Given the description of an element on the screen output the (x, y) to click on. 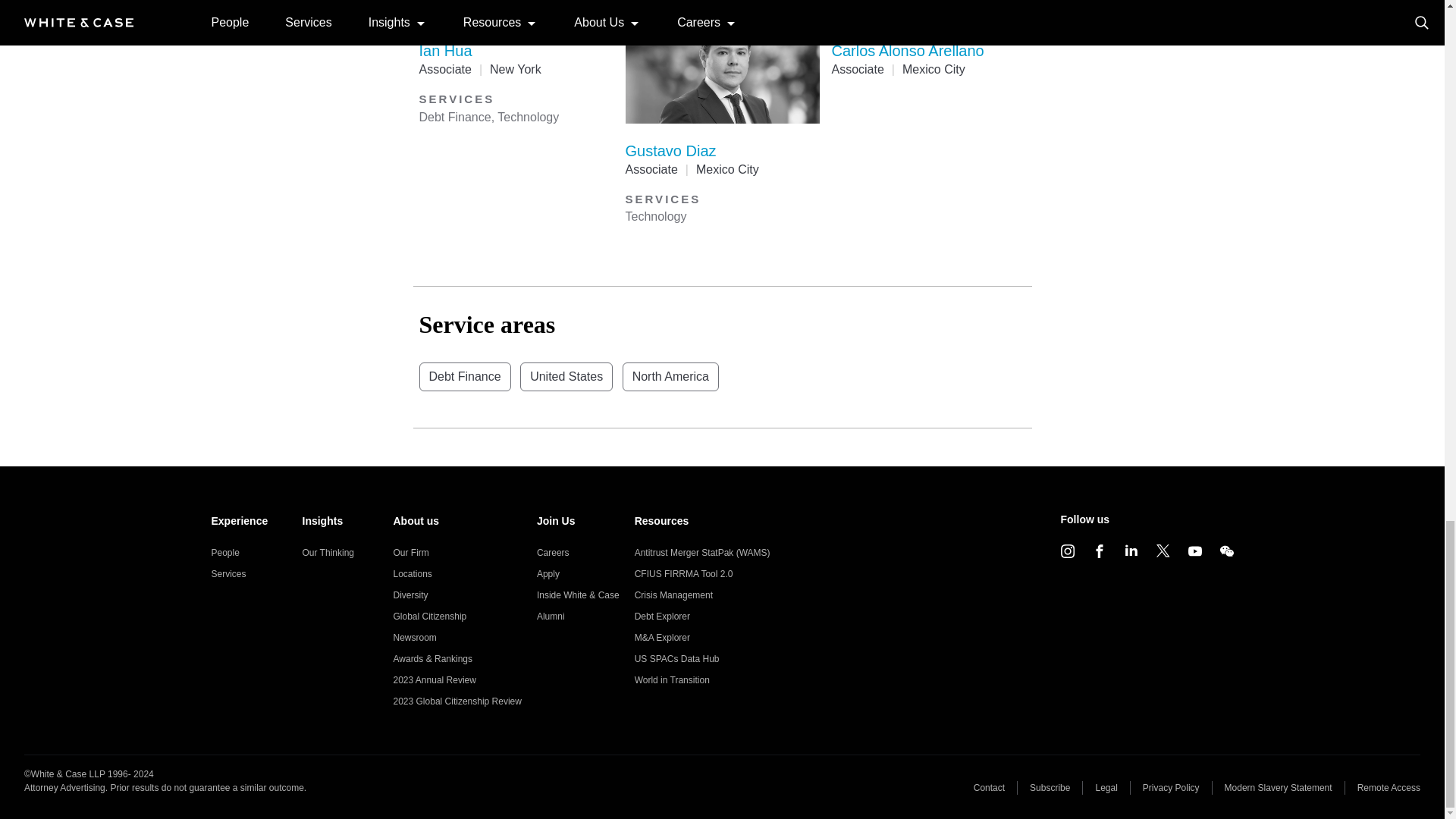
Carlos Alonso Arellano (907, 50)
Gustavo Diaz (670, 150)
Ian Hua (445, 50)
